Given the description of an element on the screen output the (x, y) to click on. 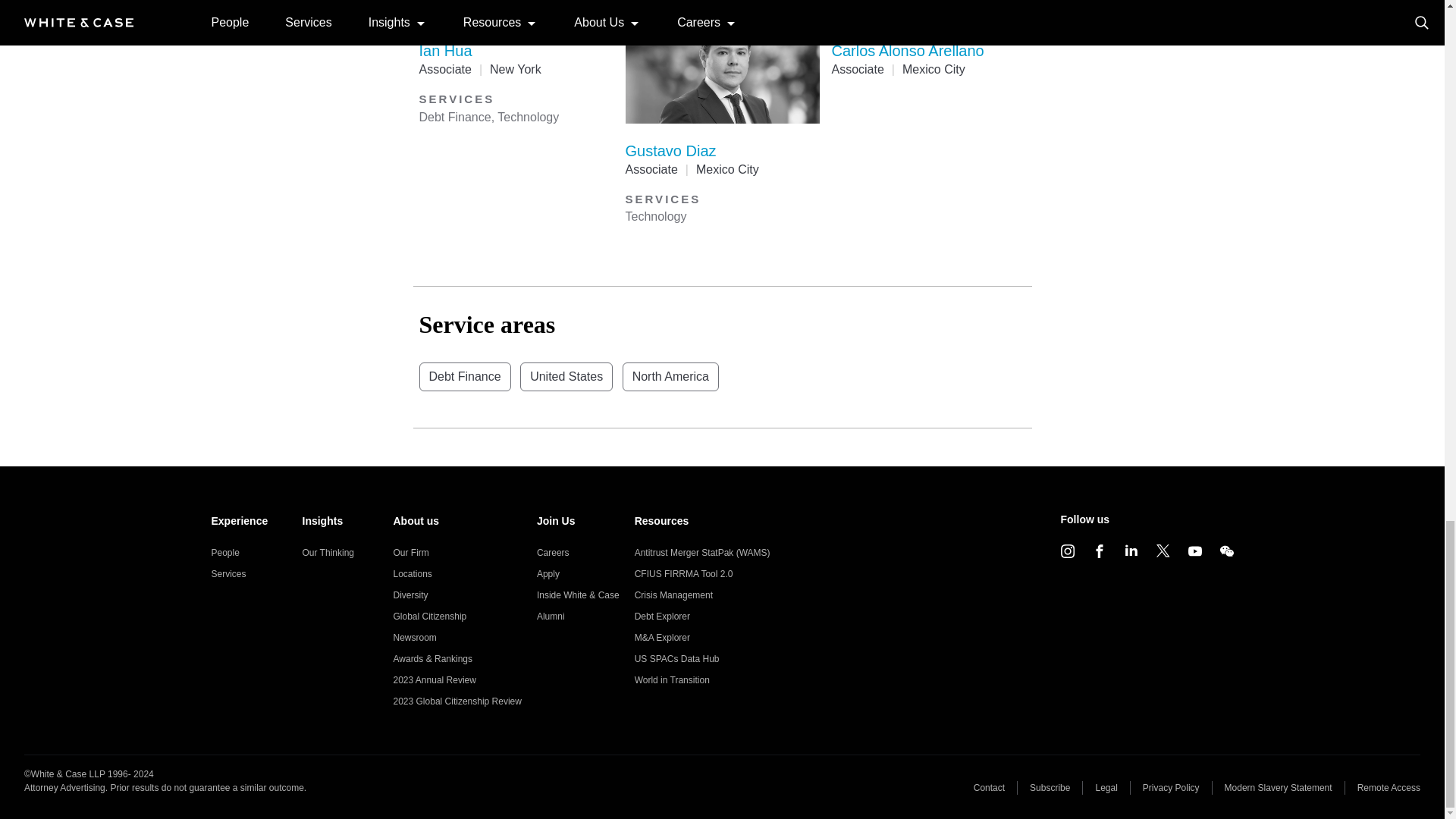
Carlos Alonso Arellano (907, 50)
Gustavo Diaz (670, 150)
Ian Hua (445, 50)
